Given the description of an element on the screen output the (x, y) to click on. 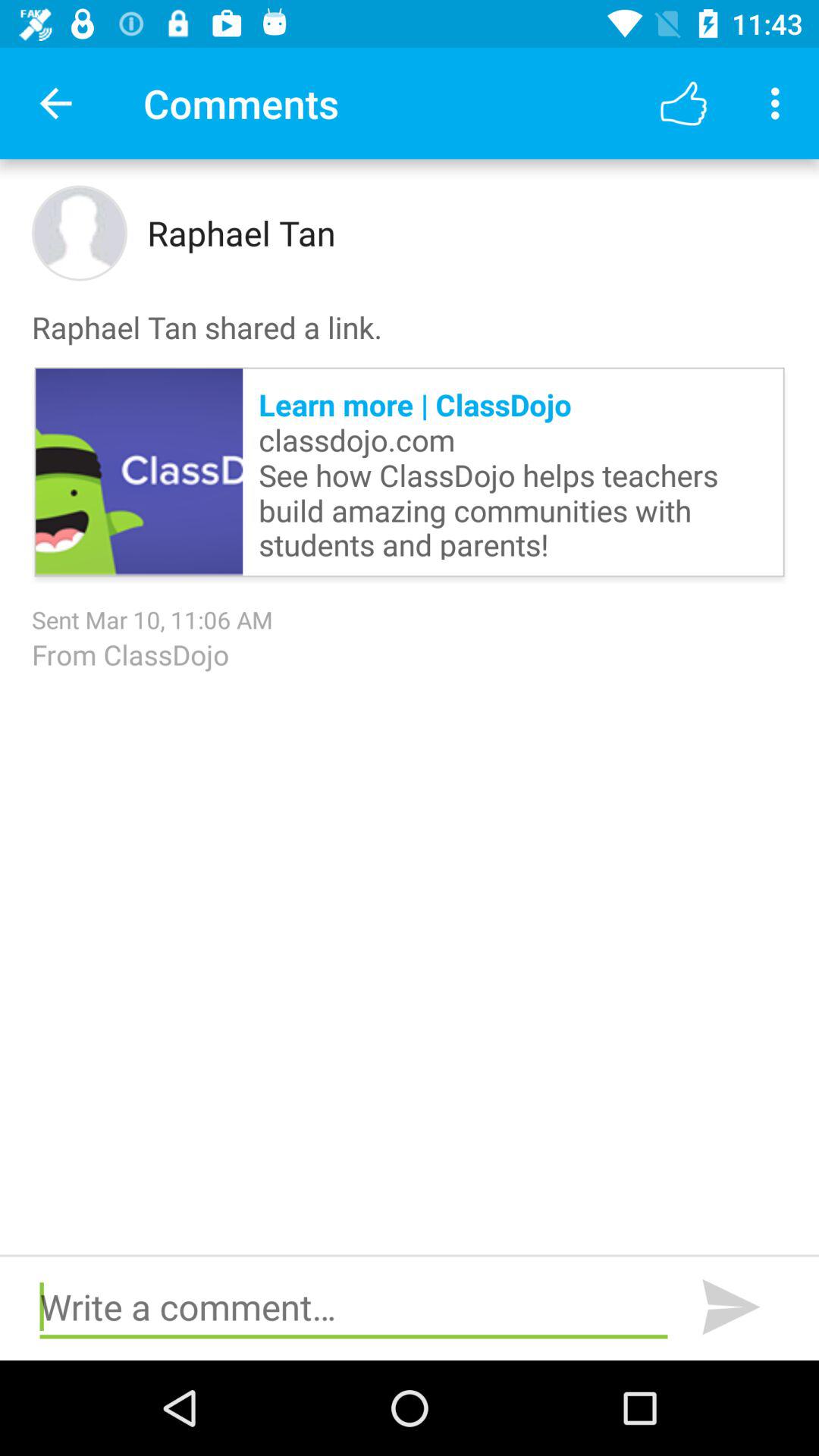
choose item to the left of comments (55, 103)
